Given the description of an element on the screen output the (x, y) to click on. 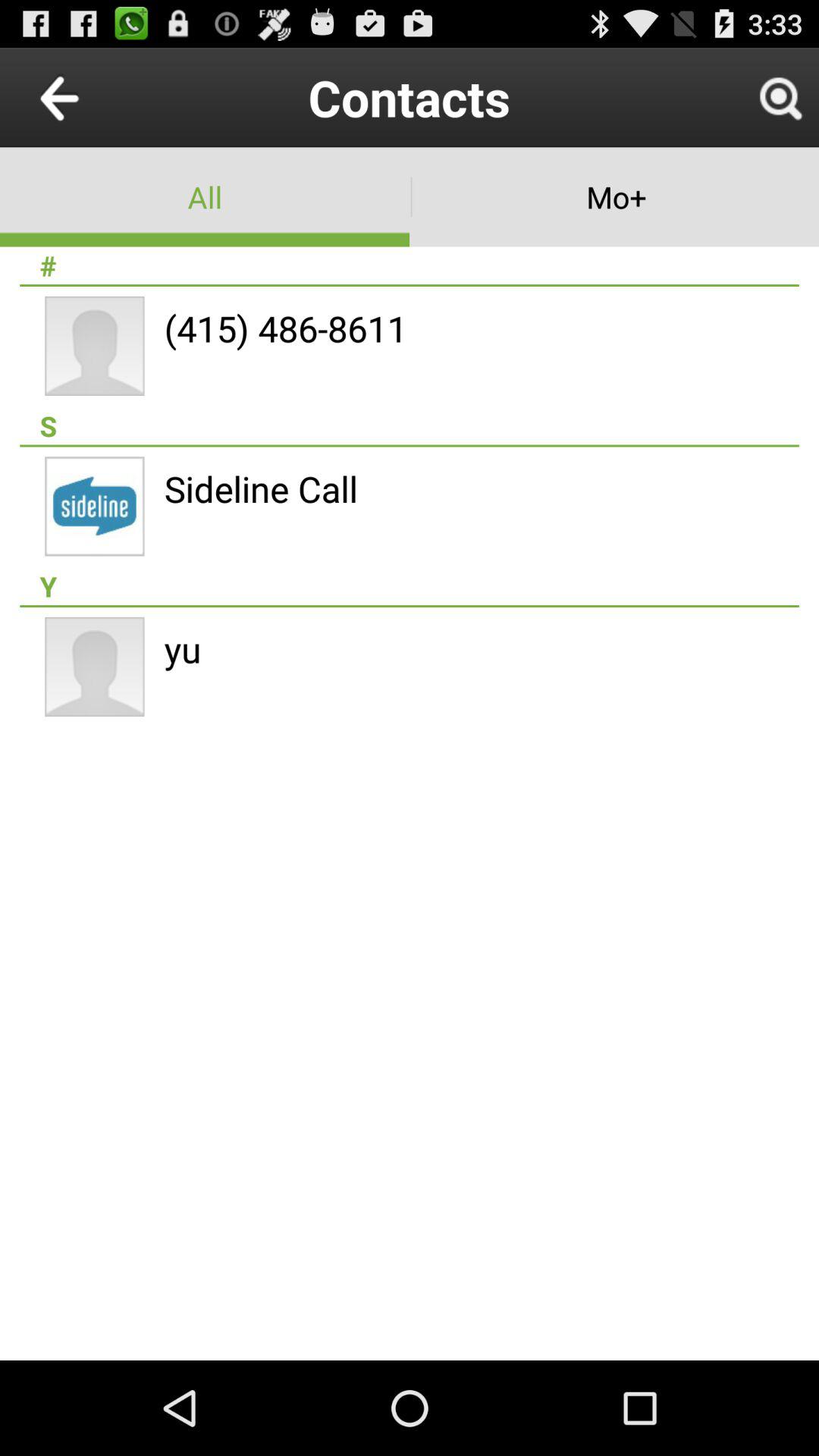
open item to the right of contacts icon (779, 97)
